Given the description of an element on the screen output the (x, y) to click on. 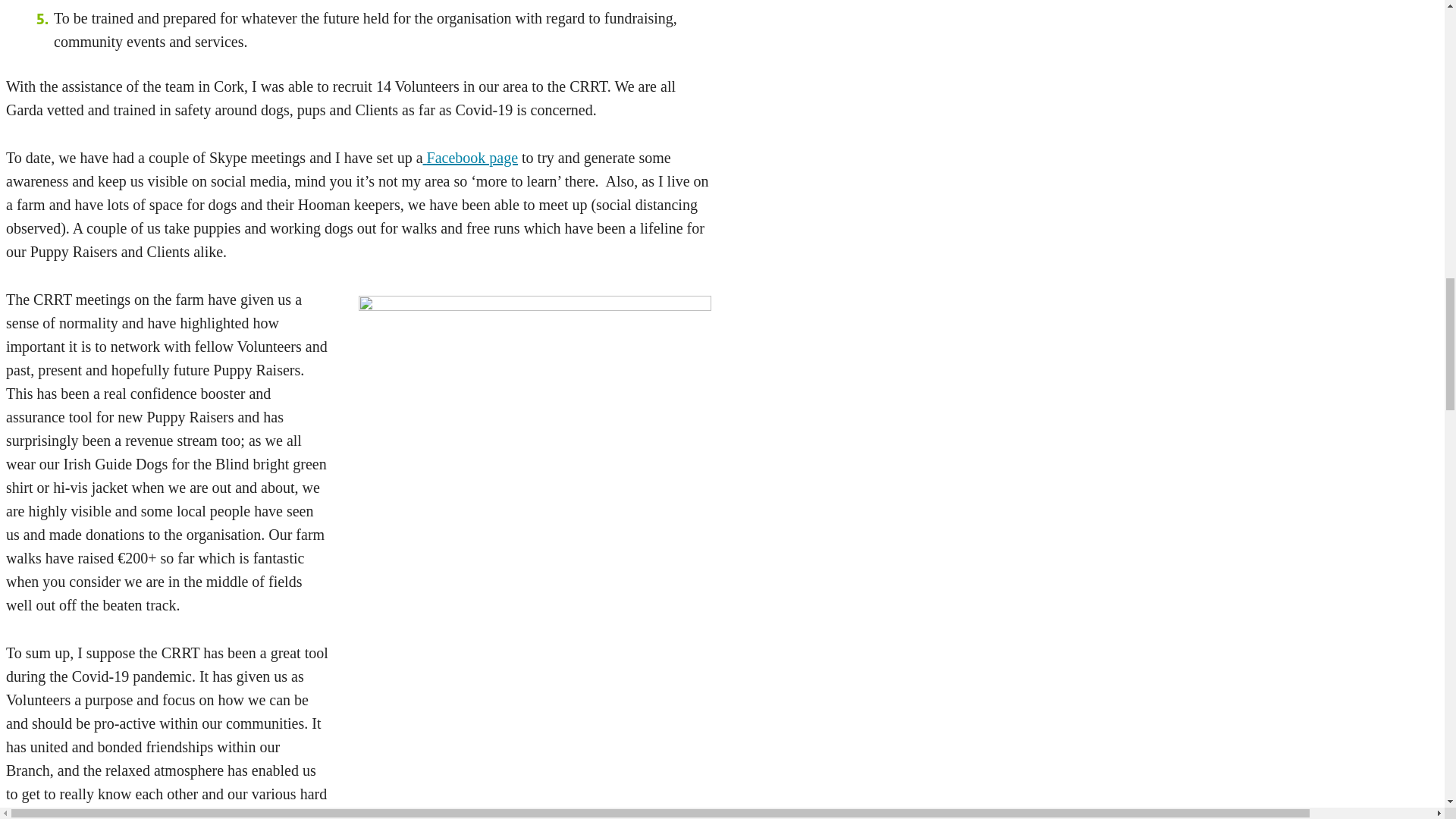
Facebook page (472, 157)
